Given the description of an element on the screen output the (x, y) to click on. 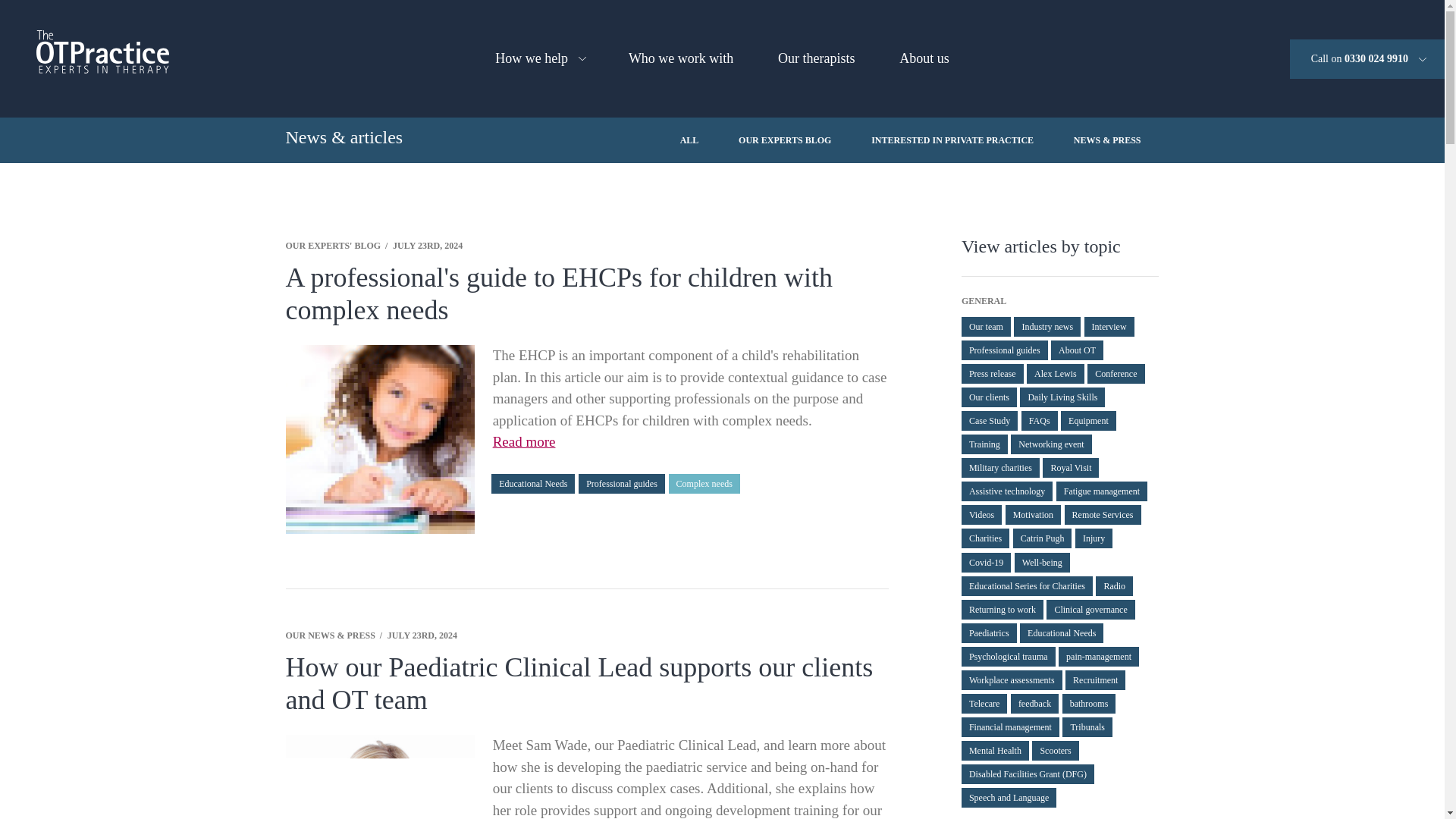
Educational Needs (533, 483)
How we help (539, 58)
Who we work with (681, 58)
View more Professional guides articles (621, 483)
Our therapists (816, 58)
Interested in private practice (952, 139)
INTERESTED IN PRIVATE PRACTICE (952, 139)
OUR EXPERTS BLOG (784, 139)
Home (102, 51)
About us (924, 58)
Complex needs (703, 483)
Who we work with (681, 58)
